Given the description of an element on the screen output the (x, y) to click on. 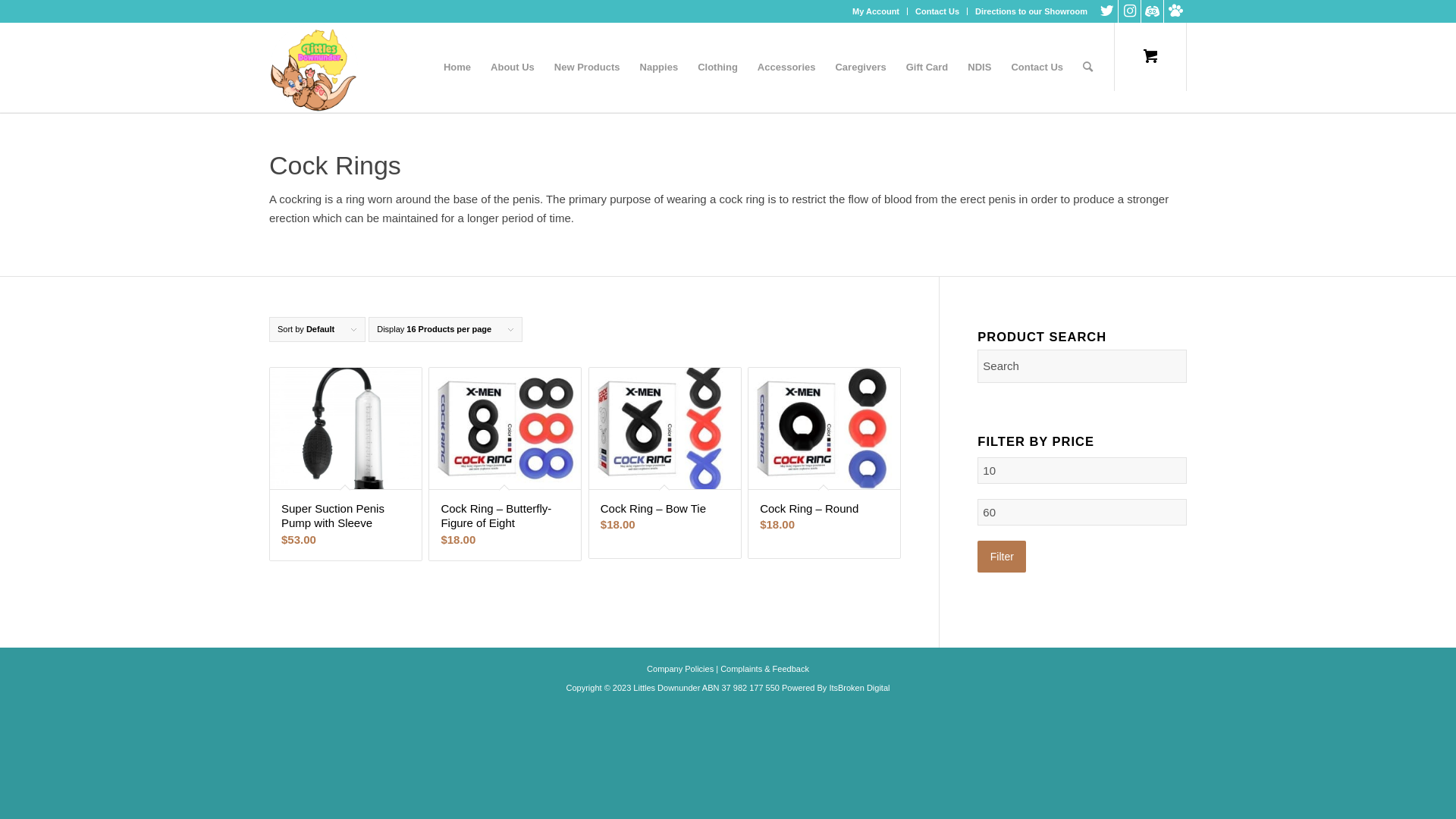
Filter Element type: text (1001, 556)
ItsBroken Digital Element type: text (858, 687)
Twitter Element type: hover (1106, 11)
NDIS Element type: text (979, 67)
Clothing Element type: text (717, 67)
Contact Us Element type: text (1037, 67)
New Products Element type: text (587, 67)
Complaints & Feedback Element type: text (764, 668)
Discord Element type: hover (1152, 11)
Gift Card Element type: text (927, 67)
Fur-affinity Element type: hover (1175, 11)
About Us Element type: text (512, 67)
Accessories Element type: text (786, 67)
Nappies Element type: text (659, 67)
Caregivers Element type: text (860, 67)
Company Policies Element type: text (679, 668)
Directions to our Showroom Element type: text (1031, 11)
Super Suction Penis Pump with Sleeve
$53.00 Element type: text (345, 464)
Instagram Element type: hover (1129, 11)
Contact Us Element type: text (937, 11)
Home Element type: text (456, 67)
My Account Element type: text (875, 11)
